Given the description of an element on the screen output the (x, y) to click on. 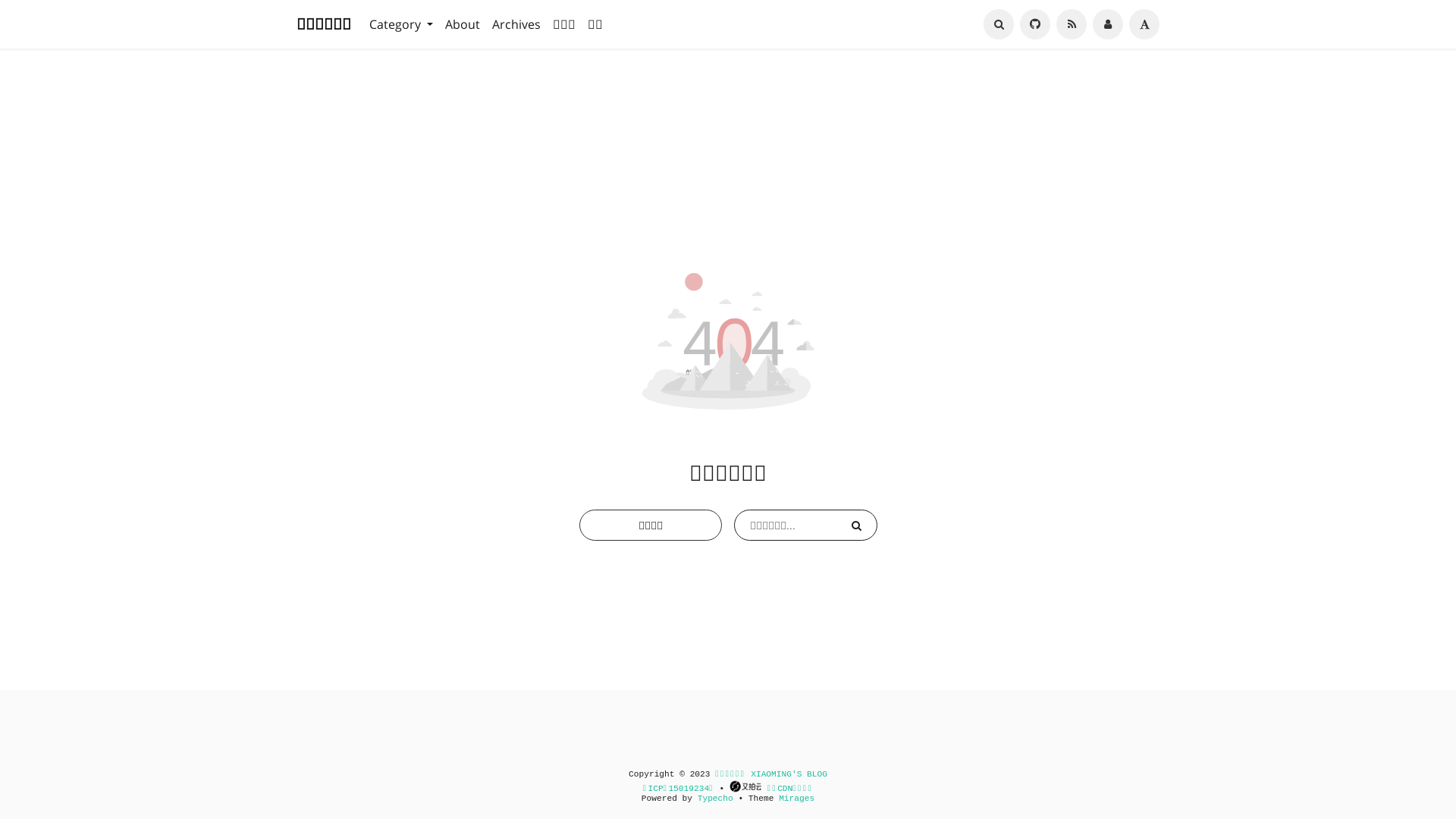
Search... Element type: hover (998, 24)
About Element type: text (462, 23)
Category Element type: text (401, 23)
Archives Element type: text (516, 23)
Typecho Element type: text (715, 798)
Github Element type: hover (1034, 24)
Rss Element type: hover (1071, 24)
Mirages Element type: text (796, 798)
User Element type: hover (1107, 24)
